Given the description of an element on the screen output the (x, y) to click on. 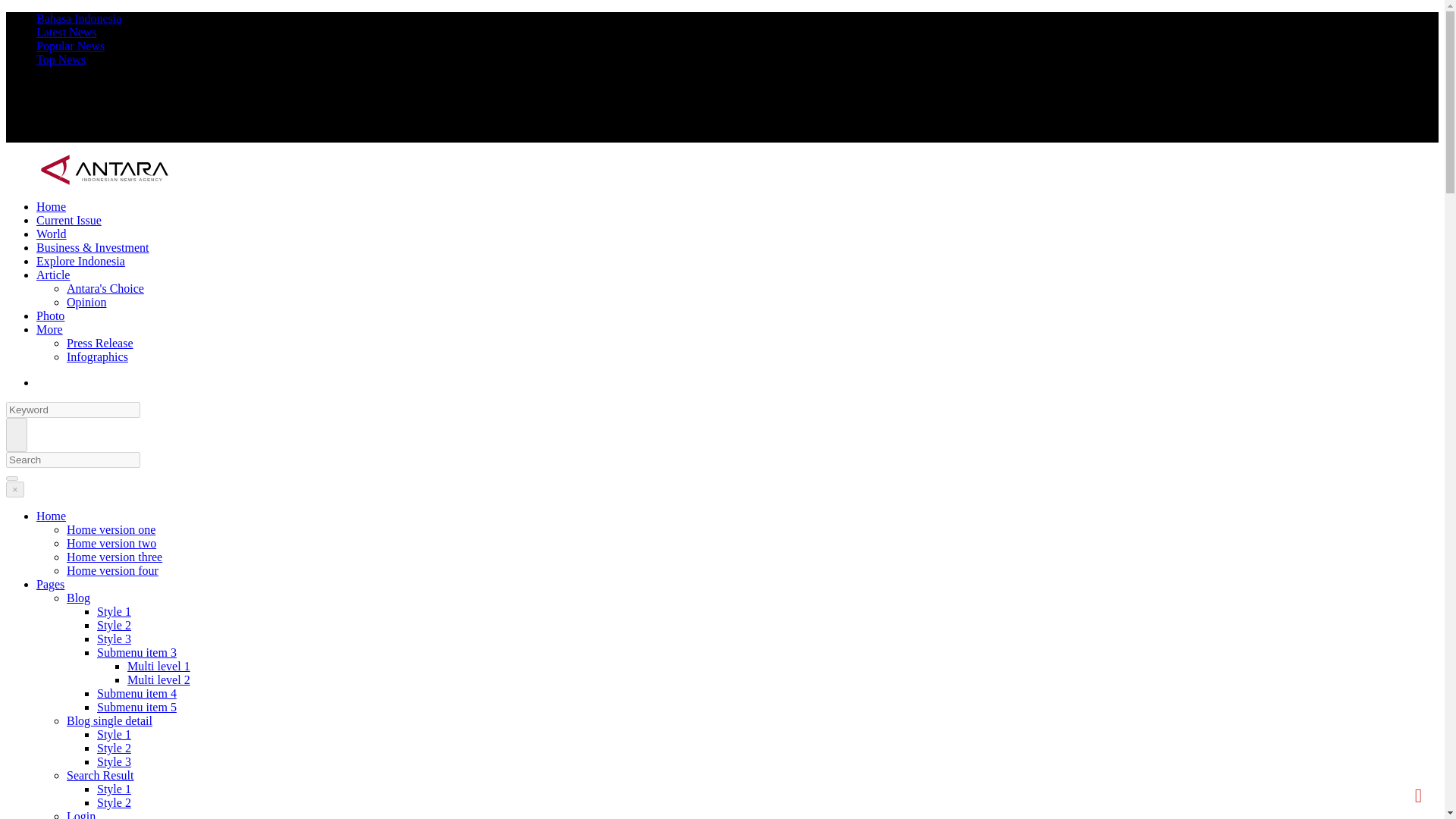
ANTARA News (104, 180)
Style 1 (114, 611)
Explore Indonesia (80, 260)
Opinion (86, 301)
Antara's Choice (105, 287)
Popular News (70, 45)
Press Release (99, 342)
Latest News (66, 31)
Photo (50, 315)
World (51, 233)
